Given the description of an element on the screen output the (x, y) to click on. 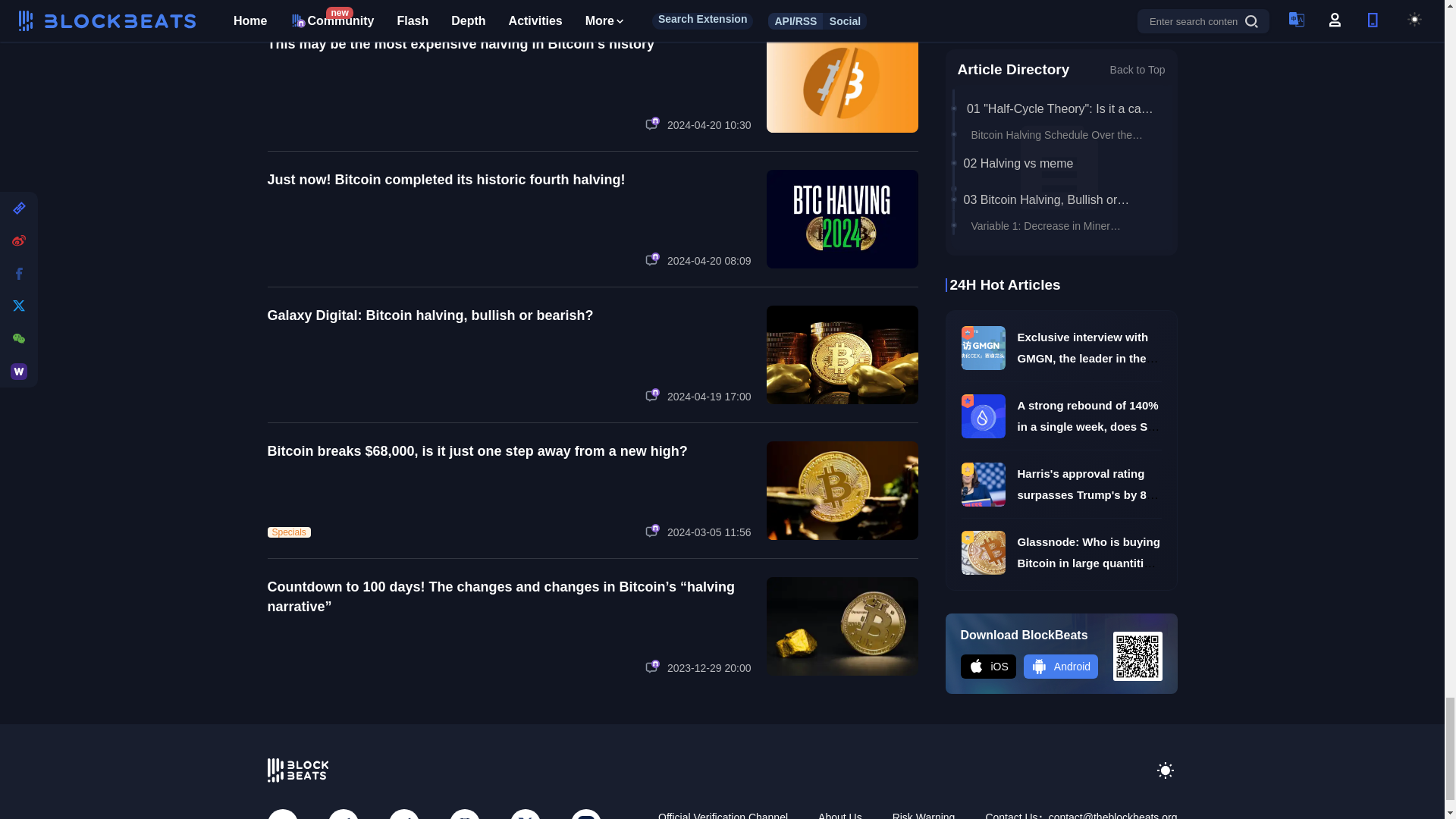
Specials (288, 532)
Galaxy Digital: Bitcoin halving, bullish or bearish? (429, 314)
This may be the most expensive halving in Bitcoin's history (459, 43)
Just now! Bitcoin completed its historic fourth halving! (445, 179)
